Given the description of an element on the screen output the (x, y) to click on. 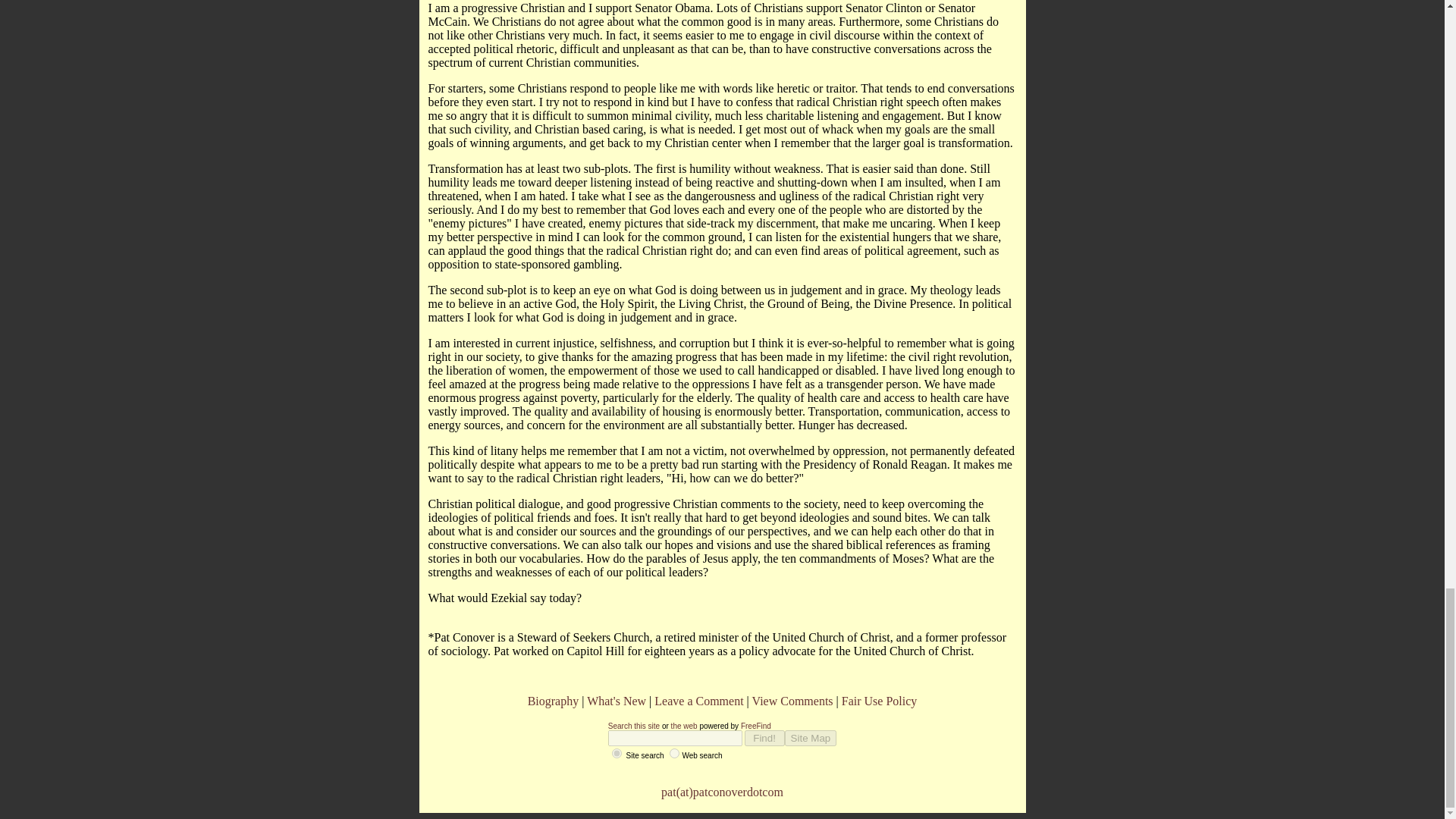
Biography (553, 700)
Fair Use Policy (879, 700)
What's New (616, 700)
w (674, 753)
Leave a Comment (697, 700)
View Comments (792, 700)
FreeFind (756, 725)
Site Map (810, 738)
s (616, 753)
Search this site (633, 725)
 Find!  (764, 738)
the web (684, 725)
